Given the description of an element on the screen output the (x, y) to click on. 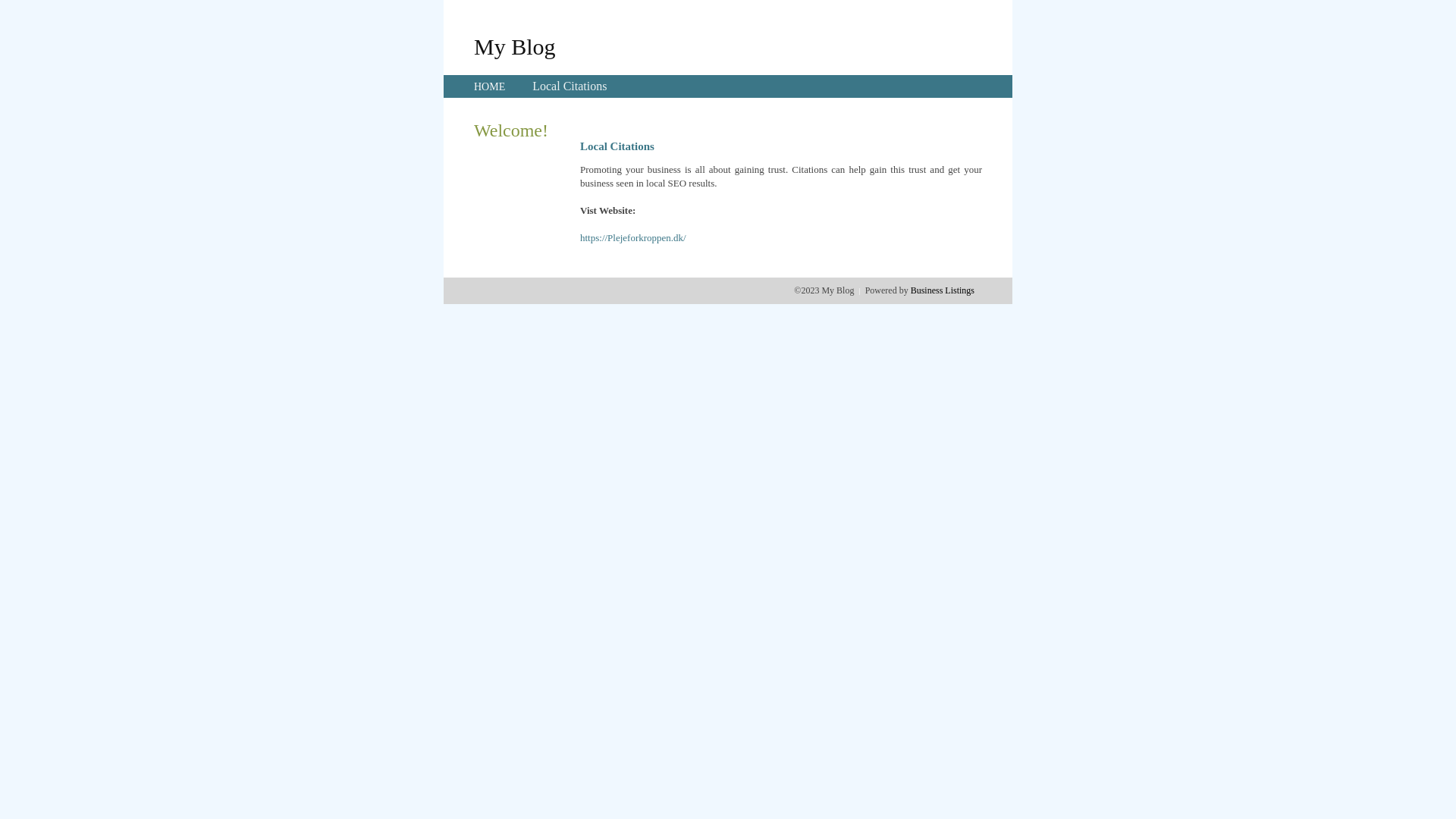
HOME Element type: text (489, 86)
Business Listings Element type: text (942, 290)
Local Citations Element type: text (569, 85)
My Blog Element type: text (514, 46)
https://Plejeforkroppen.dk/ Element type: text (633, 237)
